Given the description of an element on the screen output the (x, y) to click on. 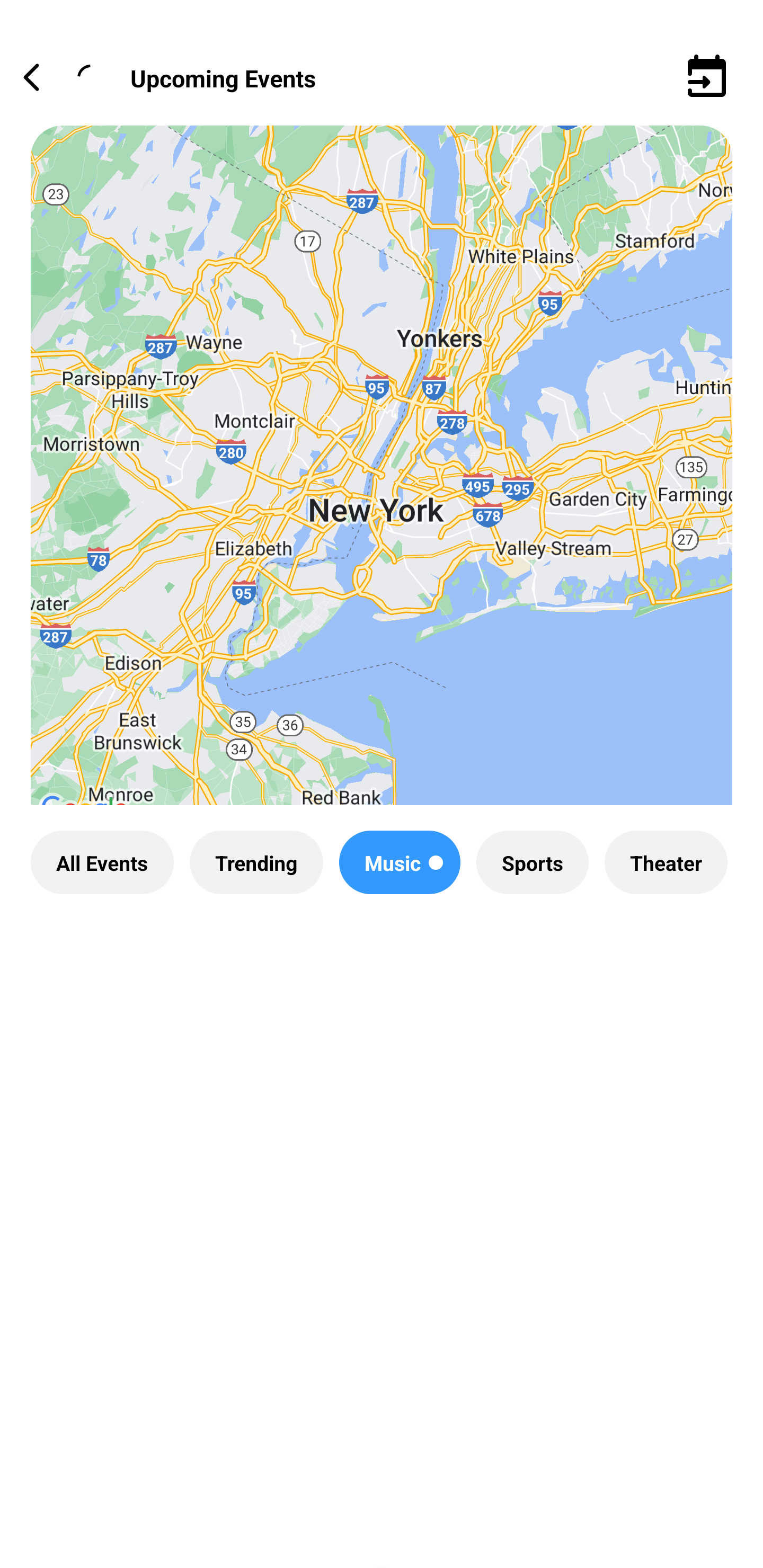
Google Map (381, 480)
All Events (101, 862)
Trending (256, 862)
Music (399, 862)
Sports (532, 862)
Theater (665, 862)
